Given the description of an element on the screen output the (x, y) to click on. 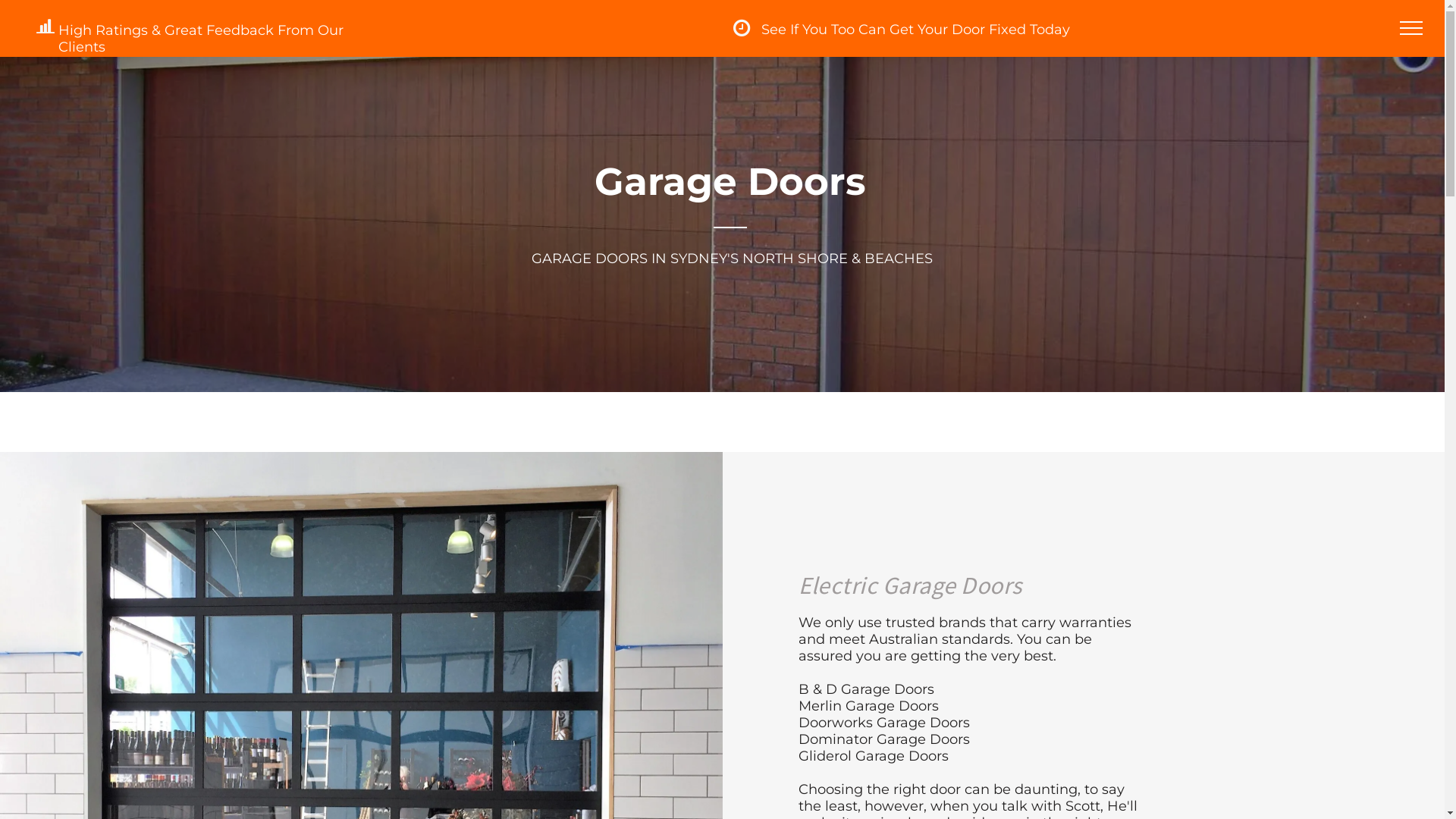
See If You Too Can Get Your Door Fixed Today Element type: text (915, 28)
High Ratings & Great Feedback From Our Clients Element type: text (220, 27)
